Given the description of an element on the screen output the (x, y) to click on. 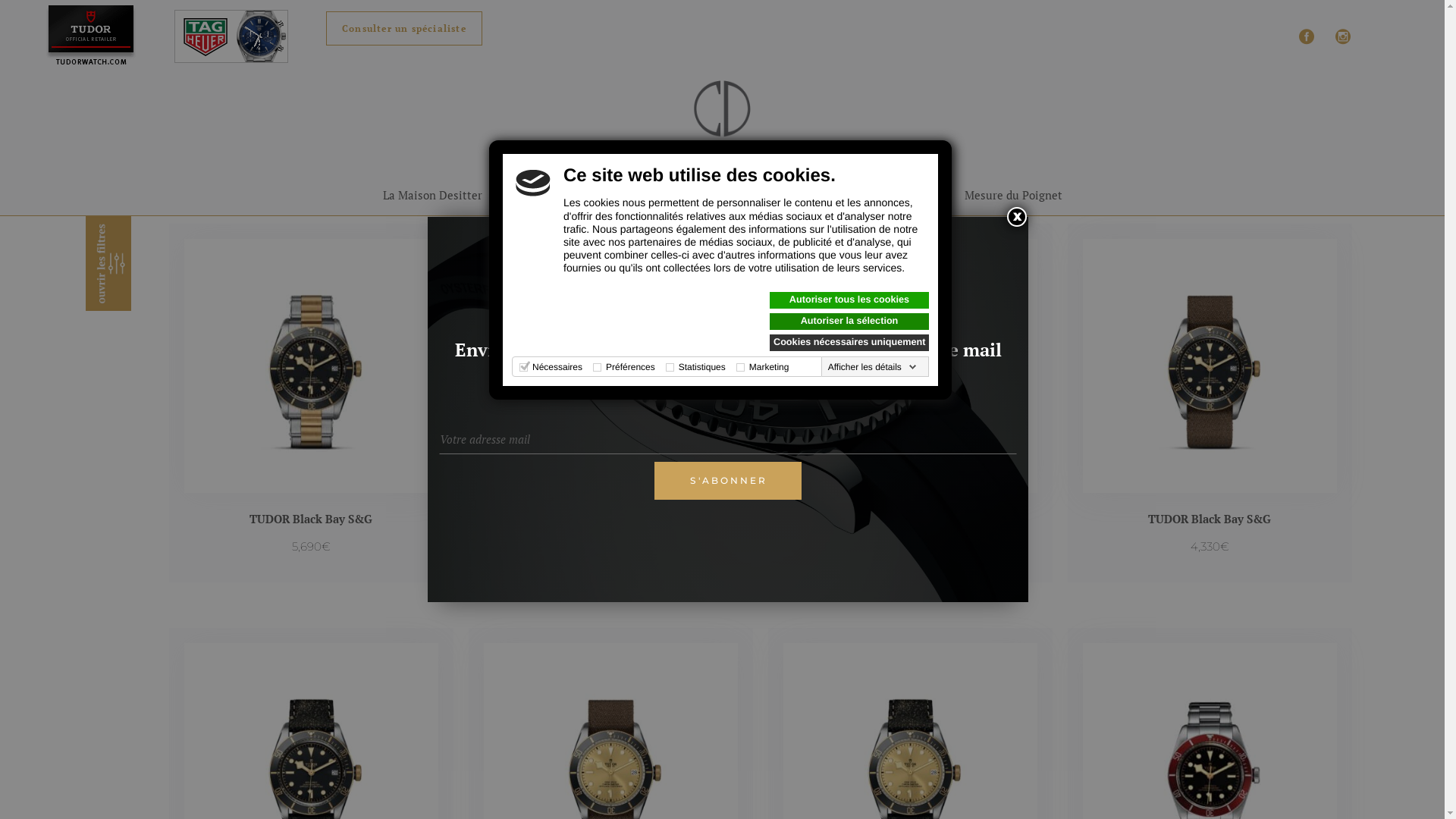
TUDOR Black Bay S&G Element type: text (310, 518)
TUDOR Black Bay S&G Element type: text (610, 518)
Autoriser tous les cookies Element type: text (848, 299)
Rolex Element type: text (612, 194)
s'abonner Element type: text (727, 480)
Nos Boutiques Element type: text (838, 194)
X Element type: text (1016, 216)
Tudor Element type: text (673, 194)
Horlogerie Element type: text (540, 194)
La Maison Desitter Element type: text (431, 194)
Bijouterie Element type: text (744, 194)
News Element type: text (919, 194)
TUDOR Black Bay Ceramic Element type: text (909, 518)
Mesure du Poignet Element type: text (1013, 194)
TUDOR Black Bay S&G Element type: text (1209, 518)
